Given the description of an element on the screen output the (x, y) to click on. 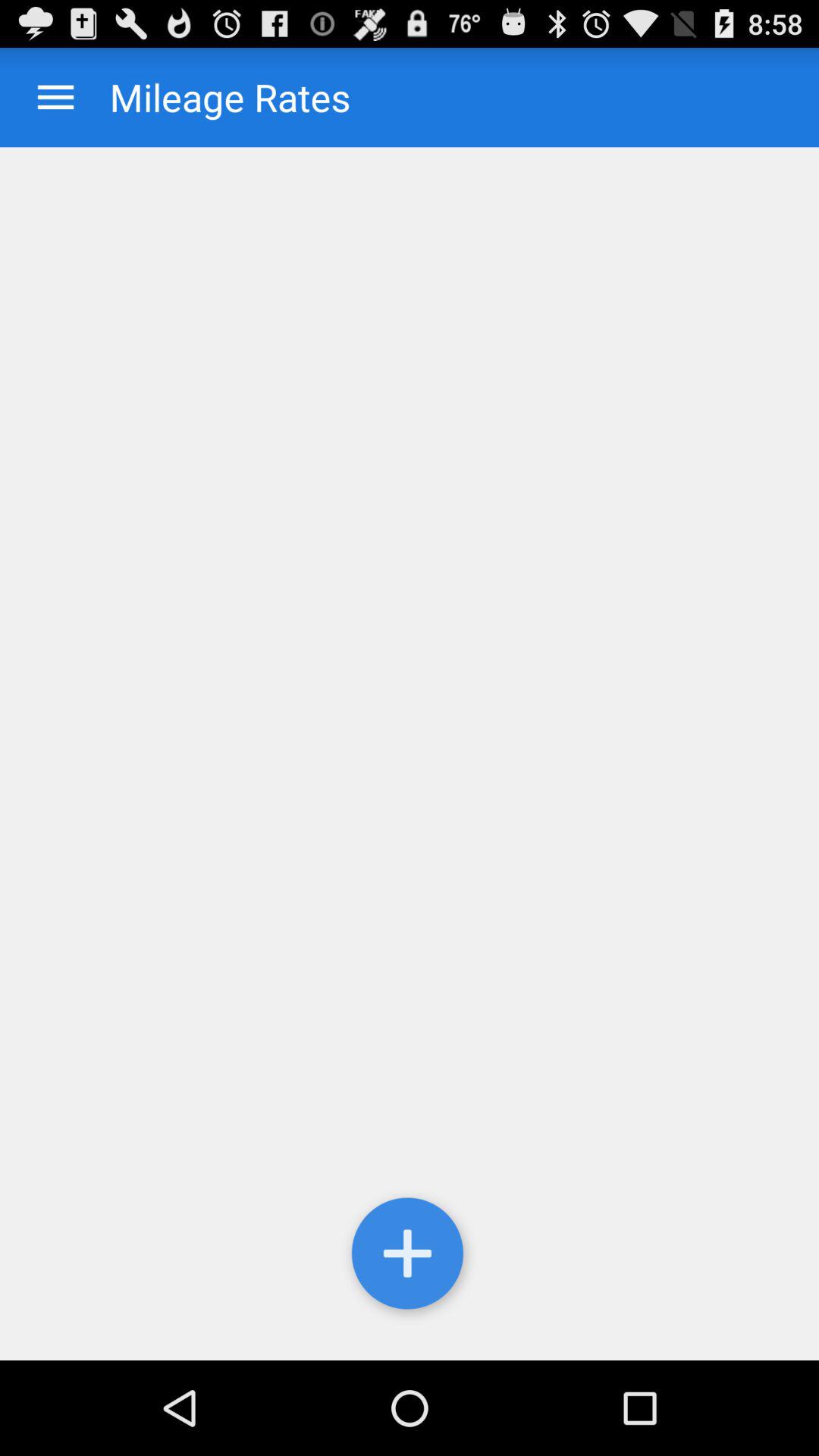
open the icon at the bottom (409, 1256)
